Given the description of an element on the screen output the (x, y) to click on. 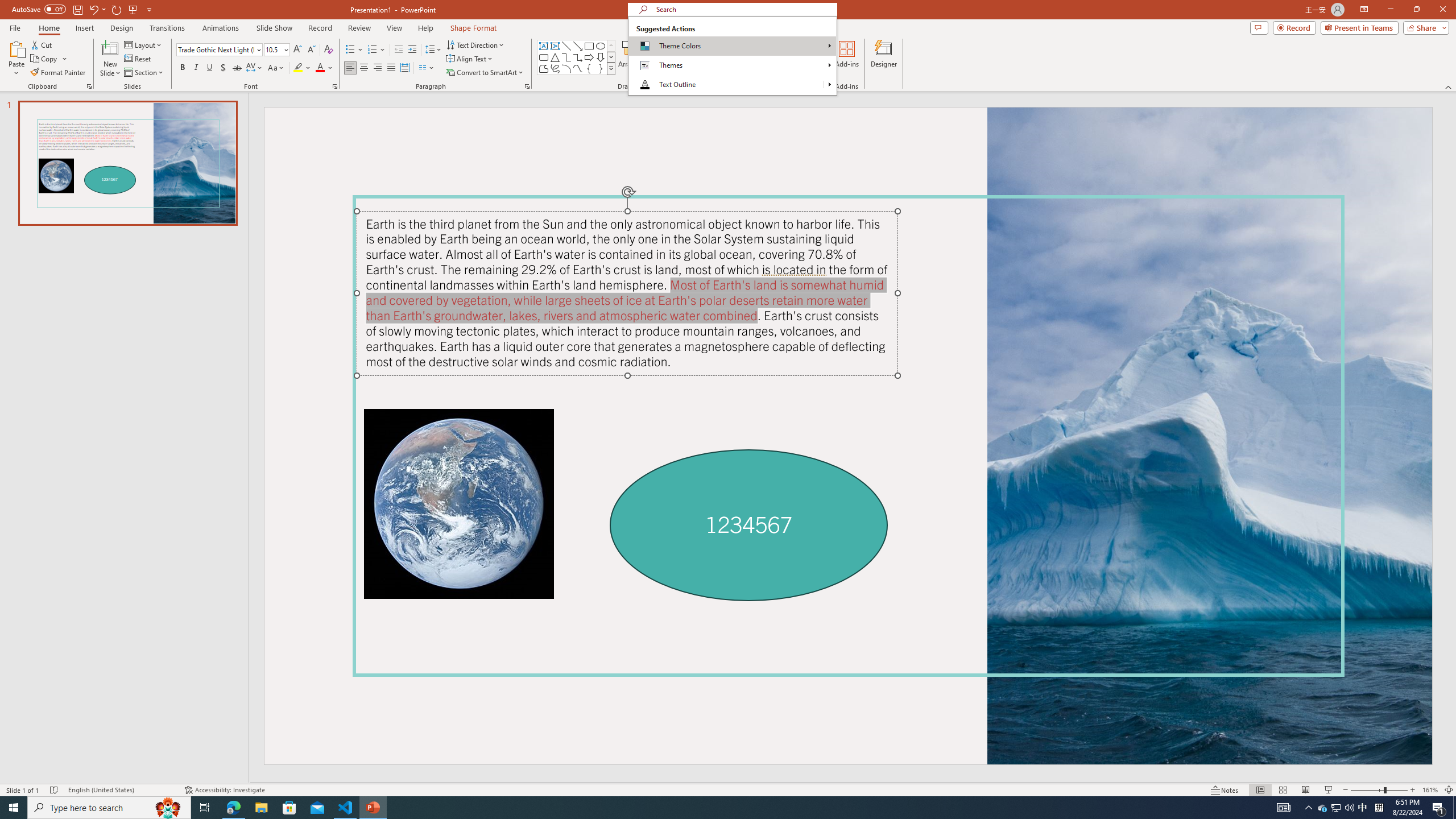
Zoom 161% (1430, 790)
